Given the description of an element on the screen output the (x, y) to click on. 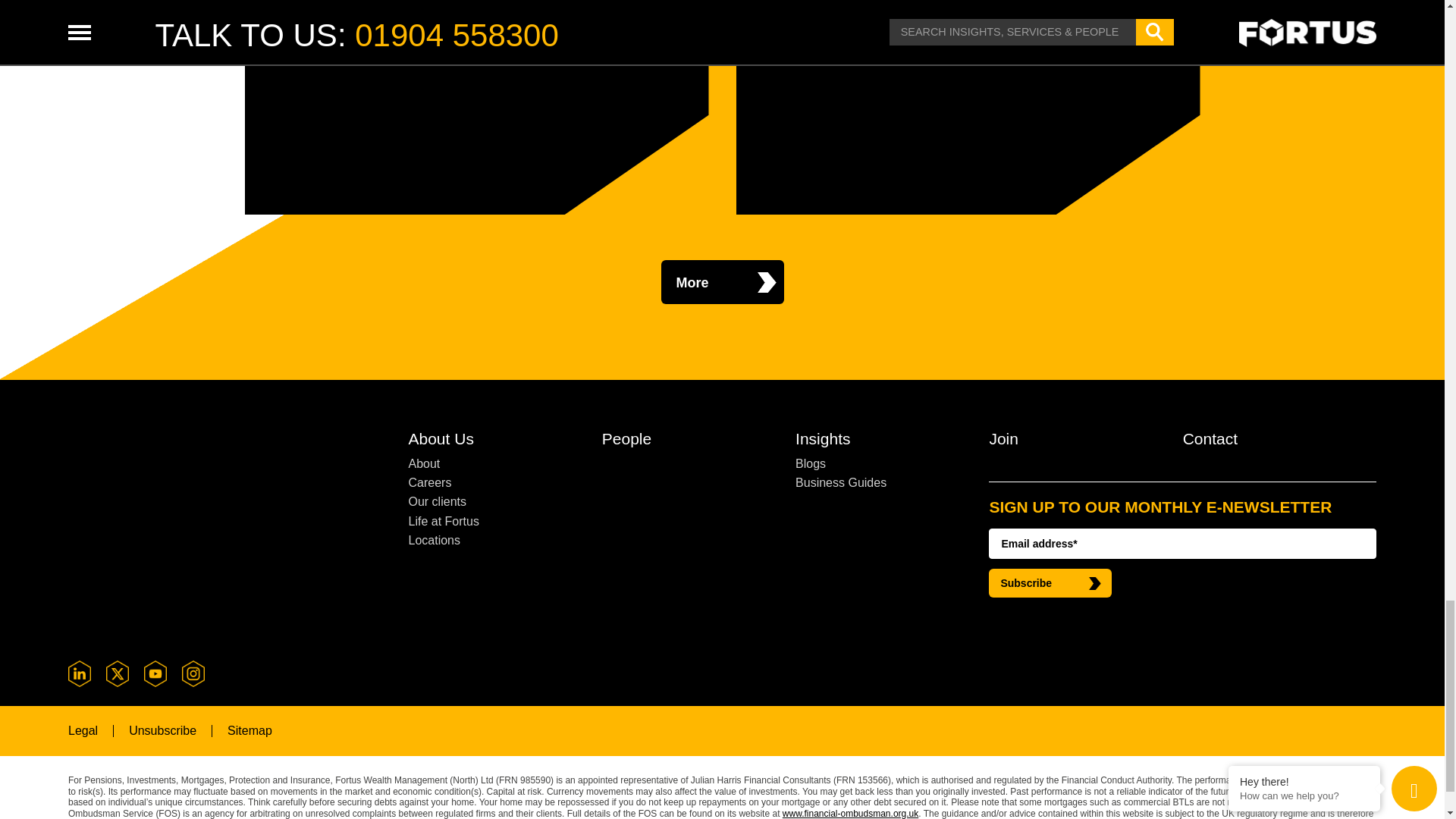
Insights (881, 441)
Subscribe (1050, 582)
More (722, 281)
Sitemap (249, 730)
People (689, 441)
Join (1075, 441)
Life at Fortus (494, 520)
Unsubscribe (162, 730)
Subscribe (1050, 582)
Contact (1269, 441)
About Us (494, 441)
Locations (494, 539)
Careers (494, 482)
Blogs (881, 463)
About (494, 463)
